Given the description of an element on the screen output the (x, y) to click on. 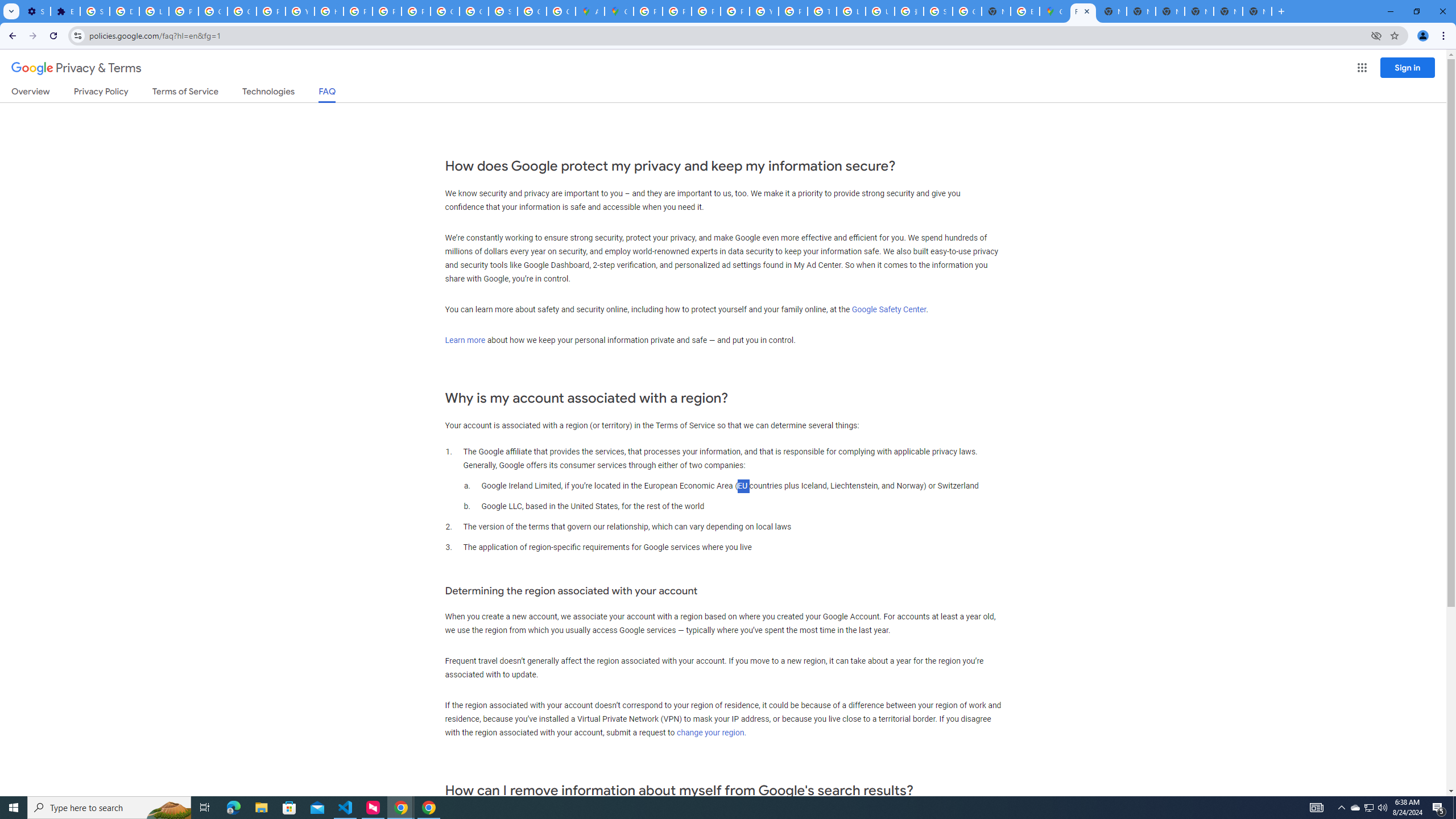
Google Account Help (212, 11)
Learn more (465, 339)
Privacy Help Center - Policies Help (677, 11)
Settings - On startup (35, 11)
Sign in - Google Accounts (938, 11)
